Given the description of an element on the screen output the (x, y) to click on. 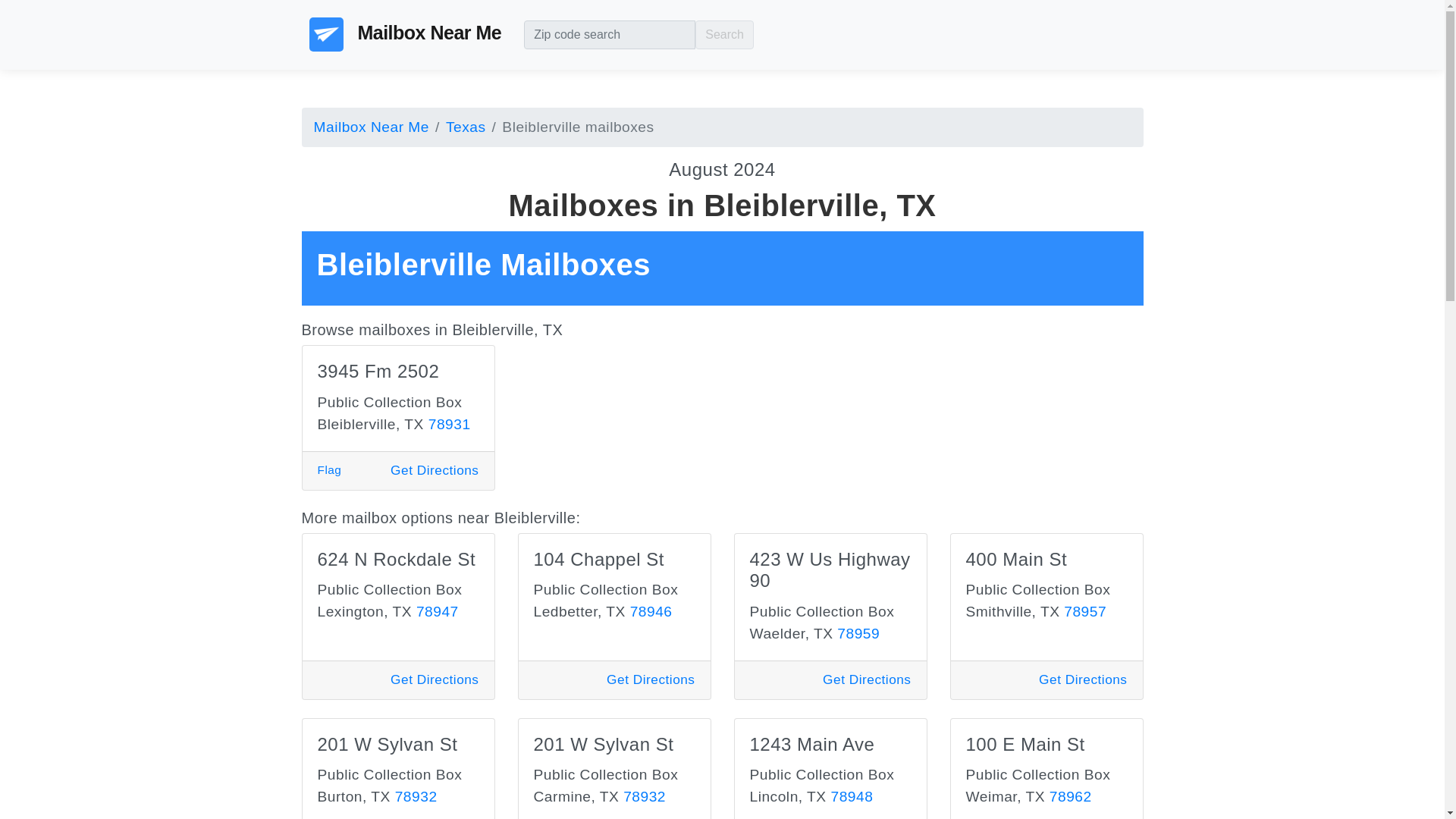
Texas (456, 127)
78932 (416, 796)
Get Directions (434, 469)
78957 (1085, 611)
78962 (1070, 796)
78932 (644, 796)
Get Directions (866, 679)
78959 (858, 633)
78947 (437, 611)
Get Directions (650, 679)
